Given the description of an element on the screen output the (x, y) to click on. 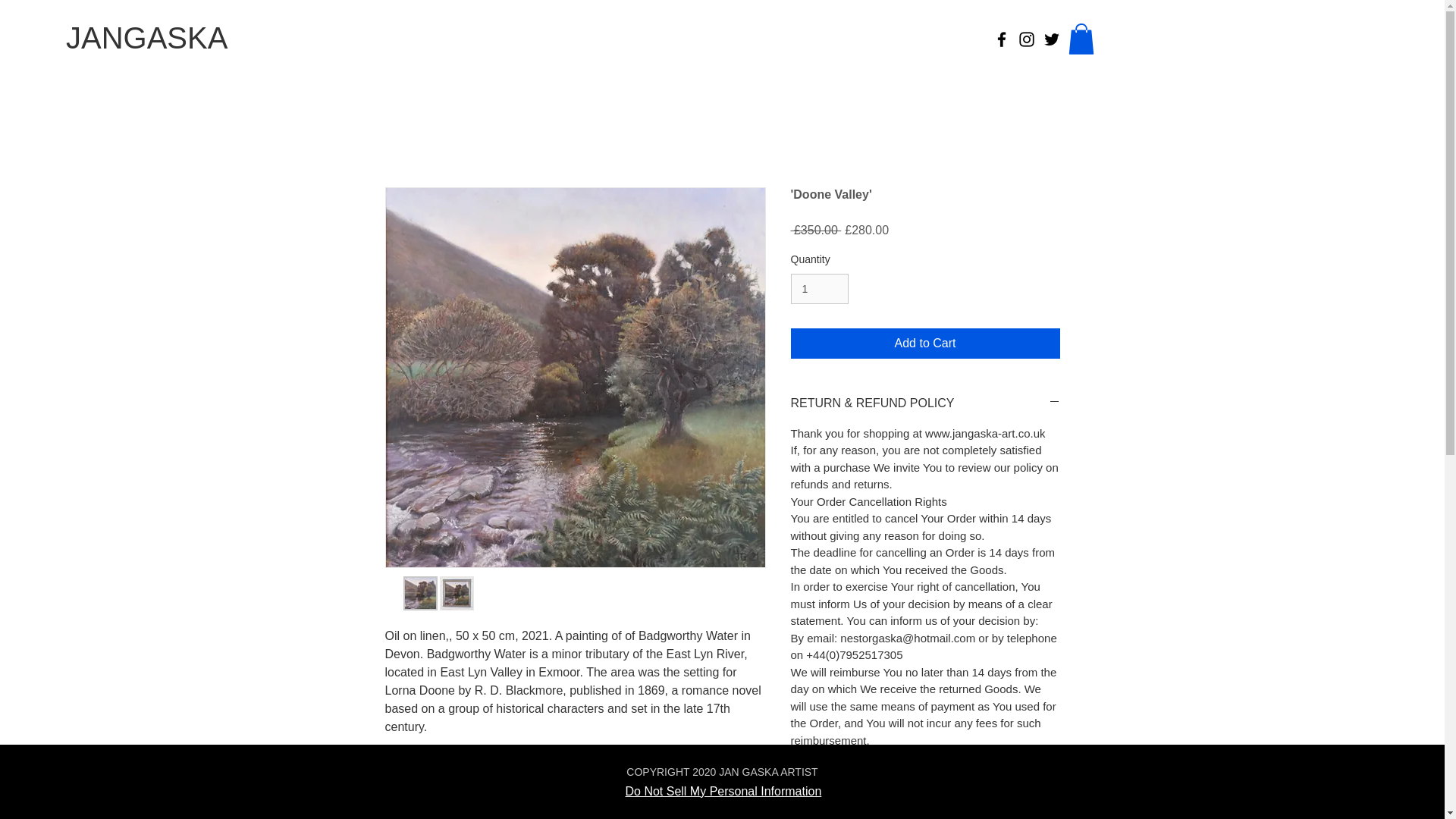
1 (818, 288)
Add to Cart (924, 343)
JANGASKA (146, 37)
Do Not Sell My Personal Information (722, 791)
